Given the description of an element on the screen output the (x, y) to click on. 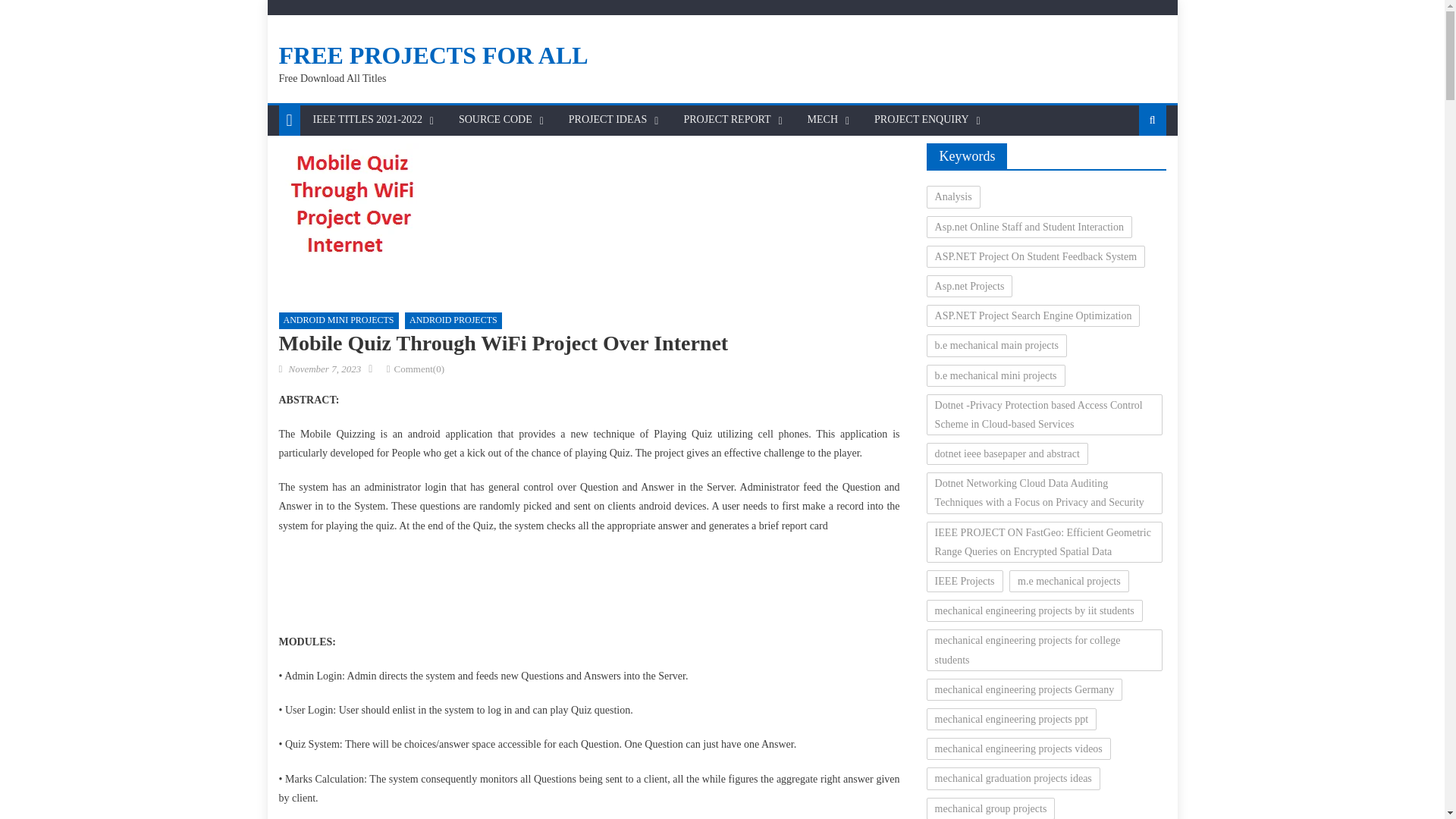
SOURCE CODE (494, 119)
FREE PROJECTS FOR ALL (433, 54)
PROJECT IDEAS (608, 119)
IEEE TITLES 2021-2022 (367, 119)
Advertisement (588, 588)
PROJECT REPORT (726, 119)
